Given the description of an element on the screen output the (x, y) to click on. 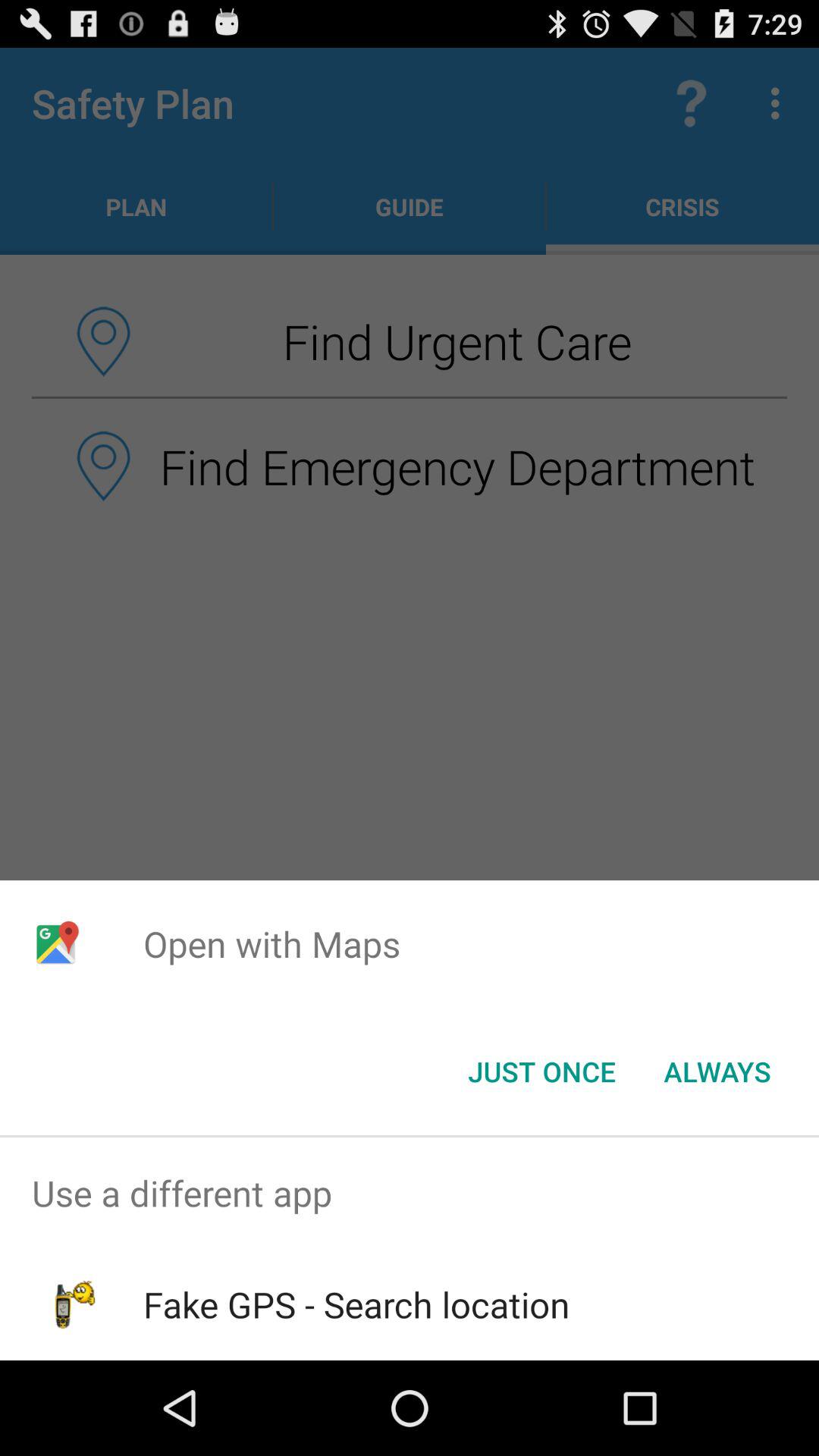
choose the fake gps search app (356, 1304)
